Given the description of an element on the screen output the (x, y) to click on. 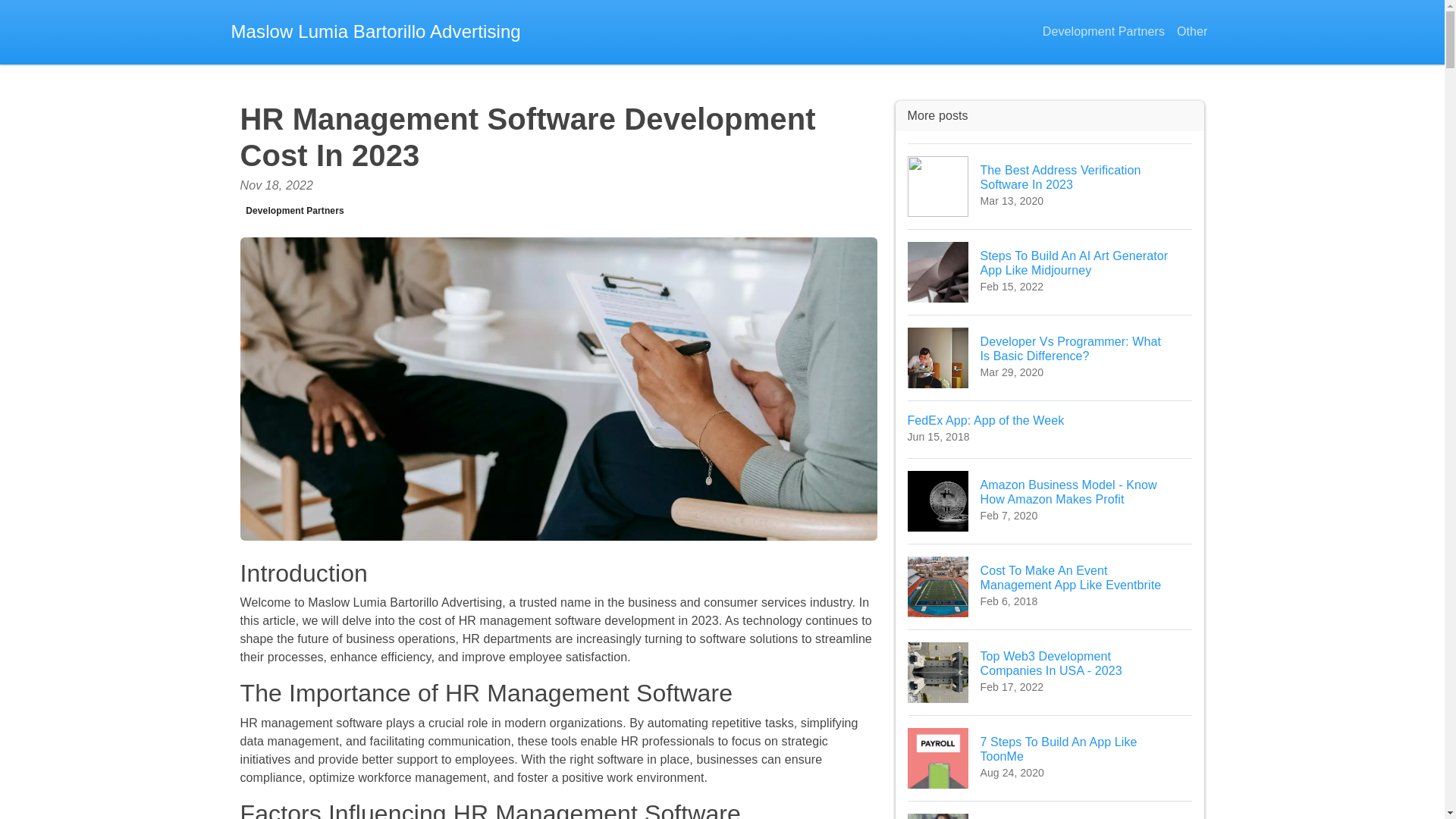
Development Partners (1049, 757)
Development Partners (1049, 671)
